Given the description of an element on the screen output the (x, y) to click on. 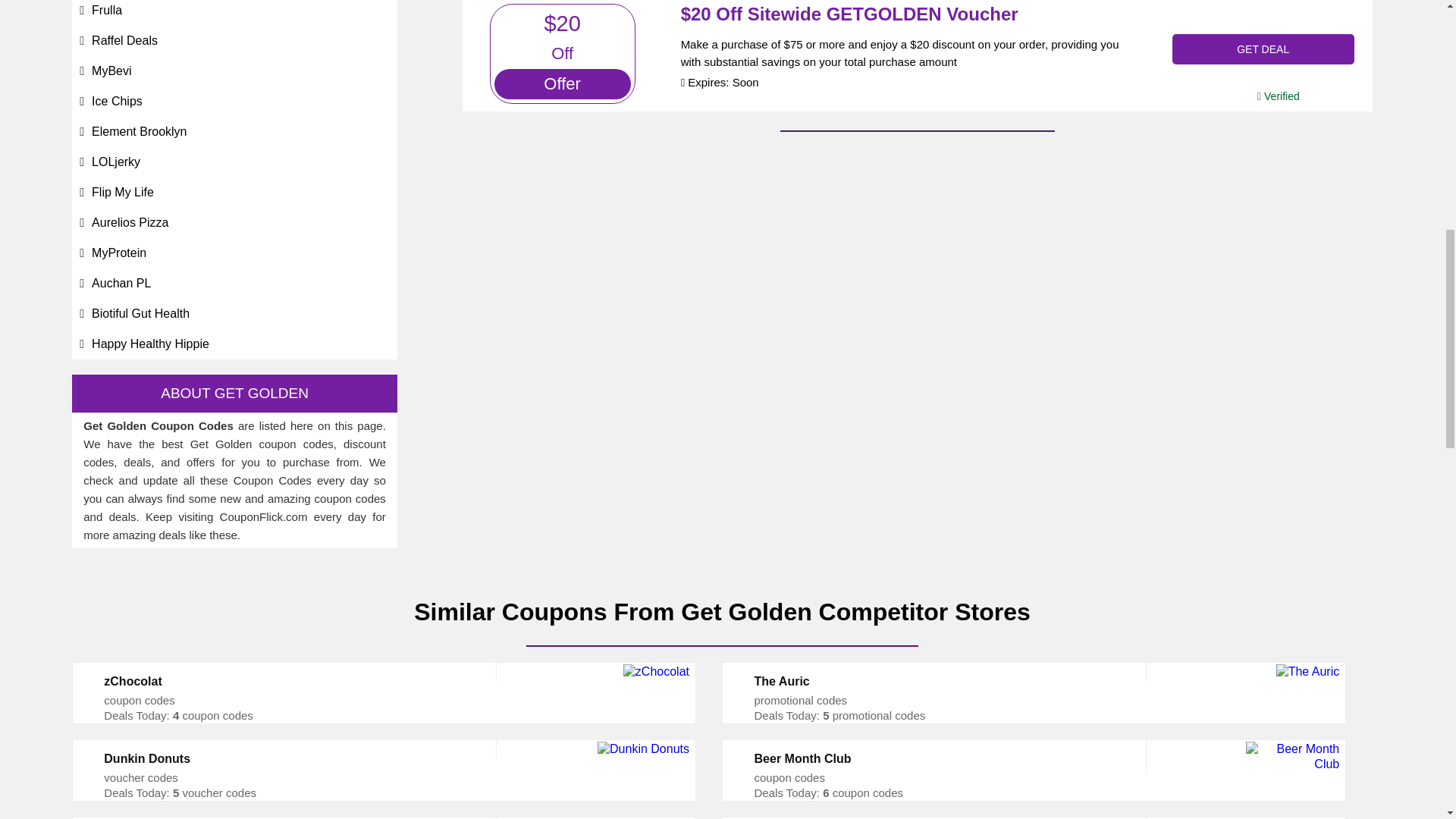
Ice Chips (116, 101)
Raffel Deals (124, 40)
Frulla (106, 10)
MyBevi (111, 70)
